Given the description of an element on the screen output the (x, y) to click on. 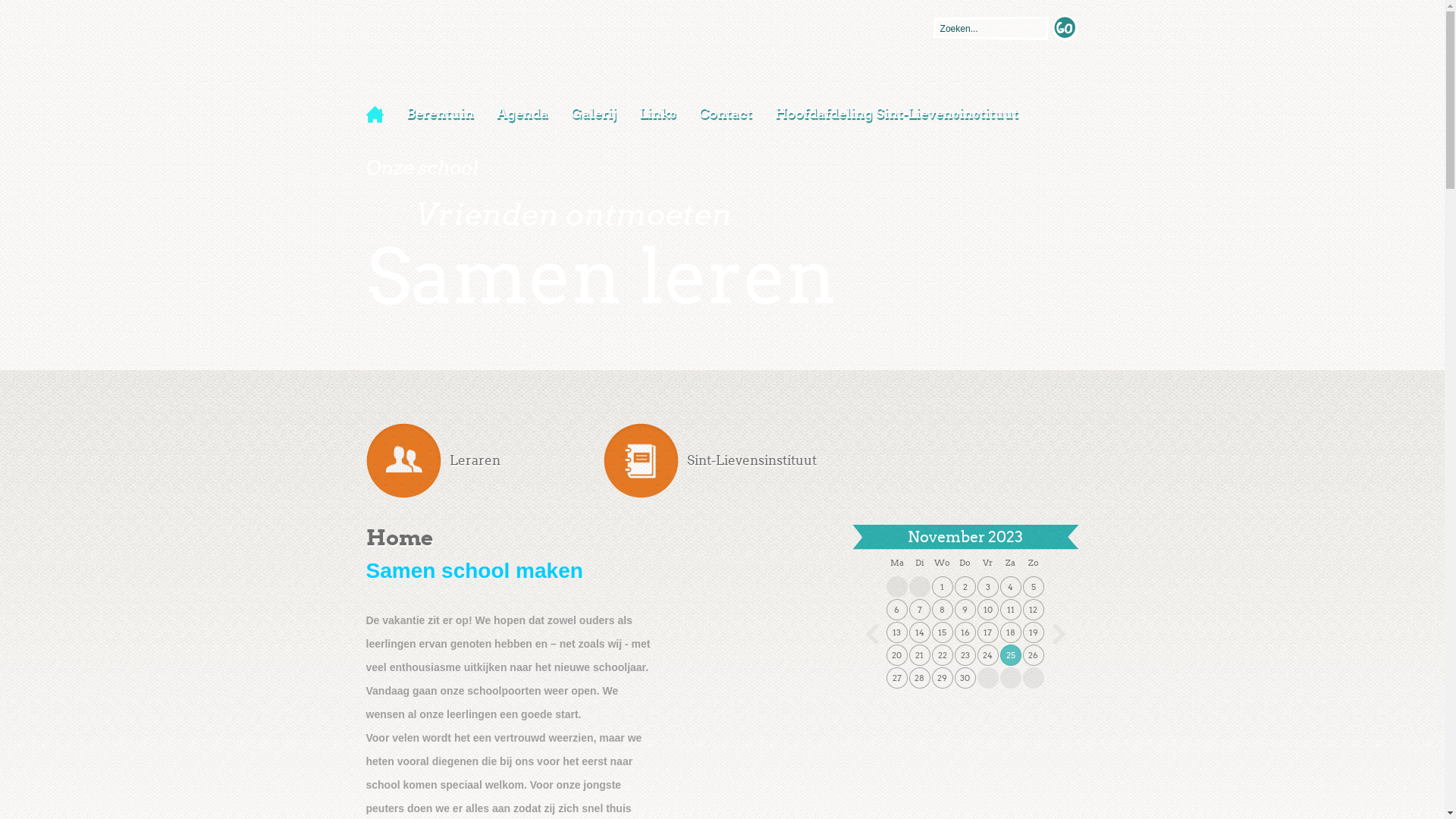
Sint-Lievensinstituut Element type: text (721, 460)
Home Element type: hover (379, 115)
Contact Element type: text (724, 113)
Links Element type: text (657, 113)
Leraren Element type: text (483, 460)
  Element type: text (1065, 28)
Prev Element type: hover (872, 634)
Galerij Element type: text (593, 113)
Next Element type: hover (1058, 634)
Berentuin Element type: text (439, 113)
Hoofdafdeling Sint-Lievensinstituut Element type: text (895, 113)
Agenda Element type: text (522, 113)
